Given the description of an element on the screen output the (x, y) to click on. 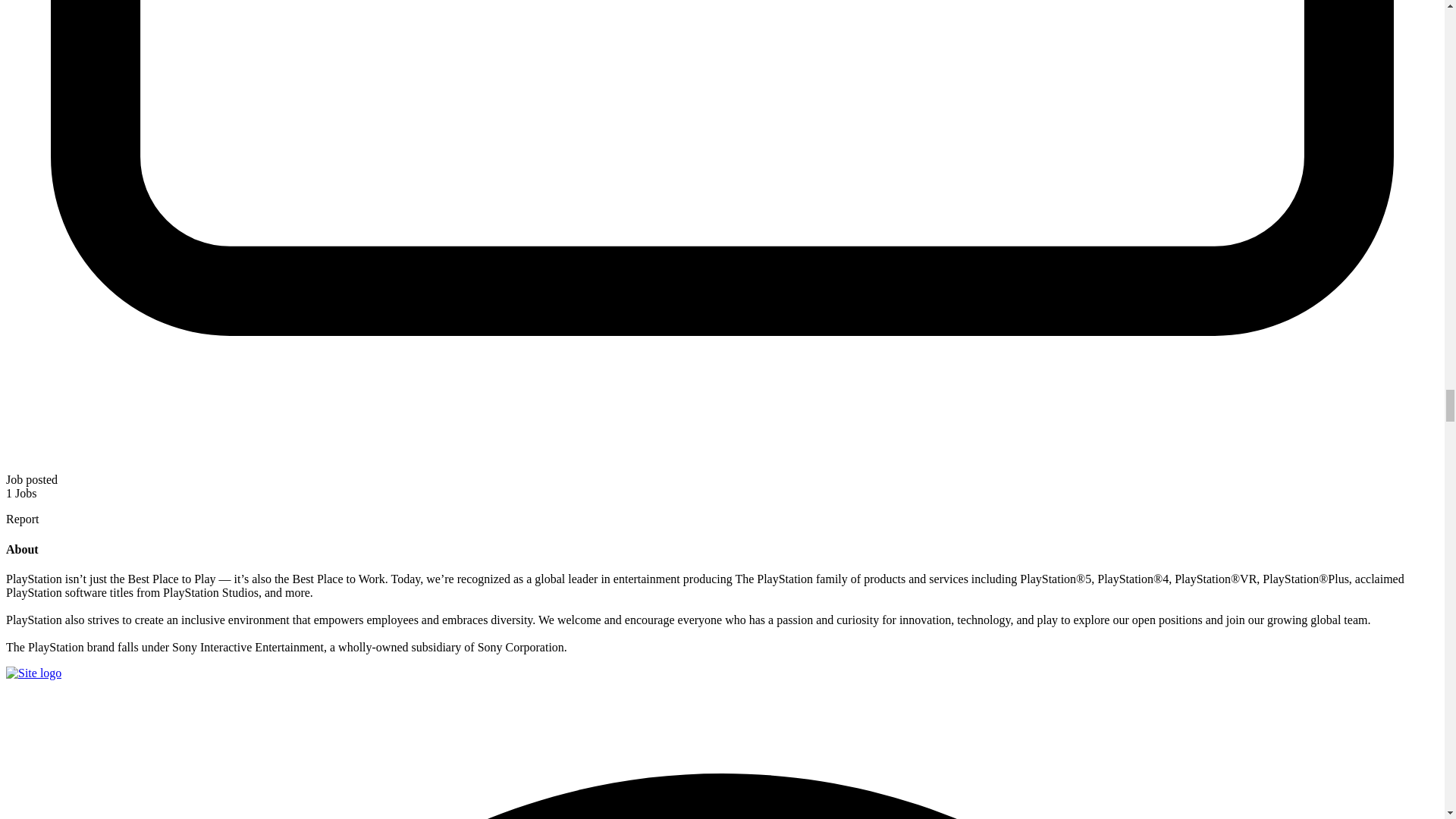
Report (22, 518)
